Given the description of an element on the screen output the (x, y) to click on. 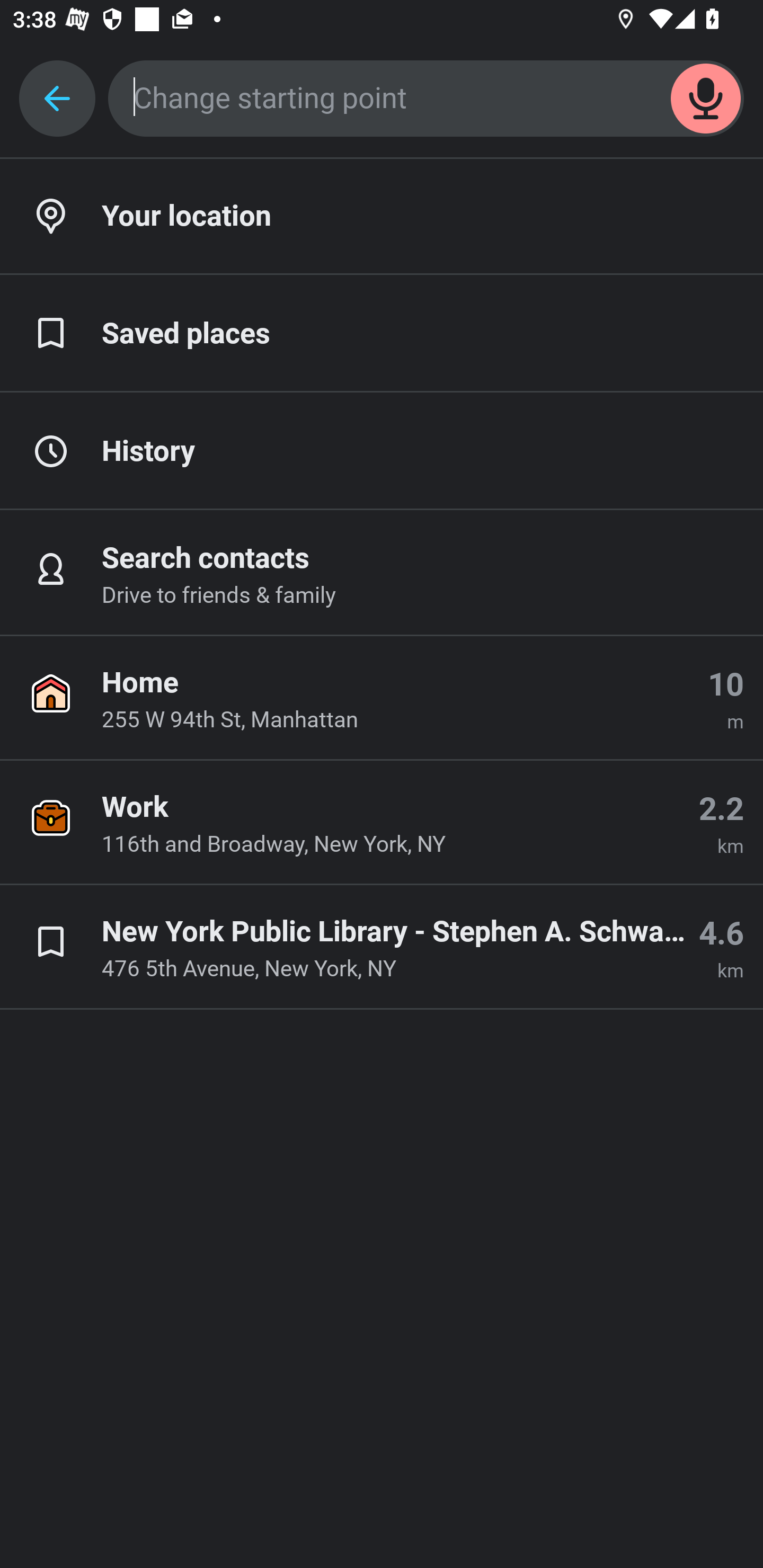
Change starting point sideMenuSearchBox (425, 98)
Your location (381, 216)
Saved places (381, 334)
History (381, 452)
Search contacts Drive to friends & family (381, 573)
Home 255 W 94th St, Manhattan 10 m (381, 698)
07:45 am (381, 811)
